Given the description of an element on the screen output the (x, y) to click on. 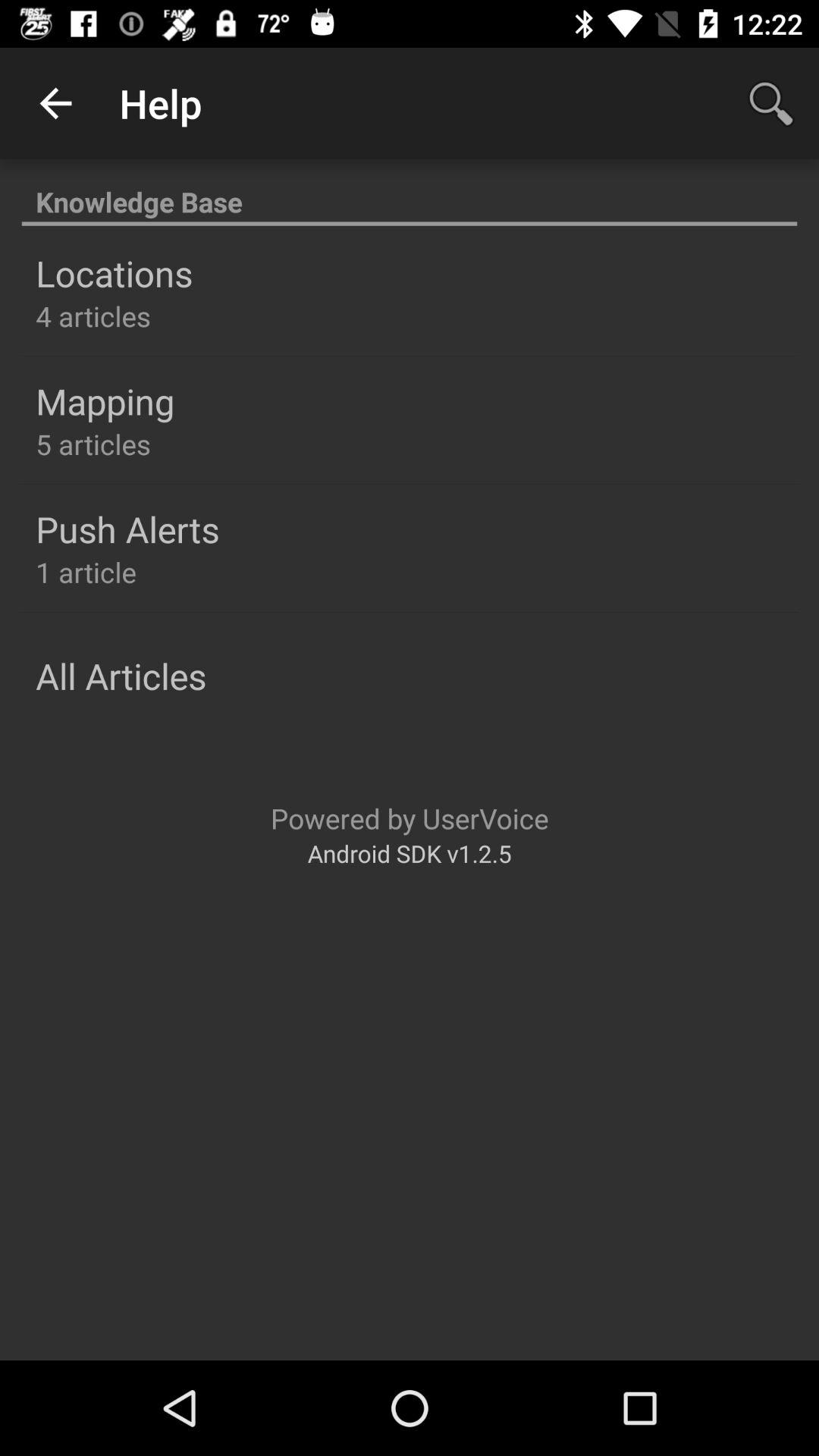
jump until powered by uservoice icon (409, 818)
